Given the description of an element on the screen output the (x, y) to click on. 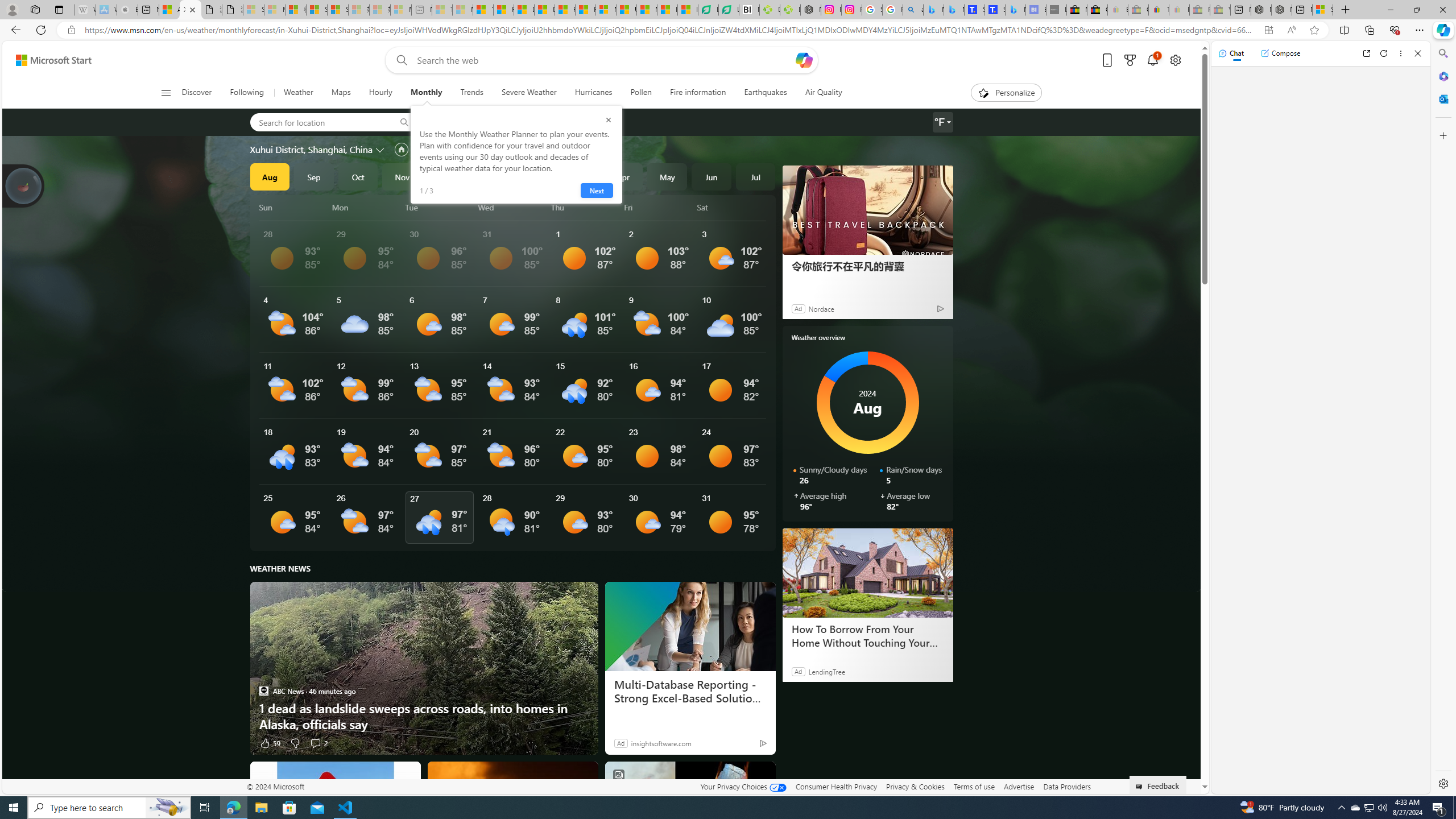
Maps (340, 92)
Pollen (641, 92)
Data Providers (1066, 785)
Hurricanes (592, 92)
Sep (313, 176)
Feb (534, 176)
